Given the description of an element on the screen output the (x, y) to click on. 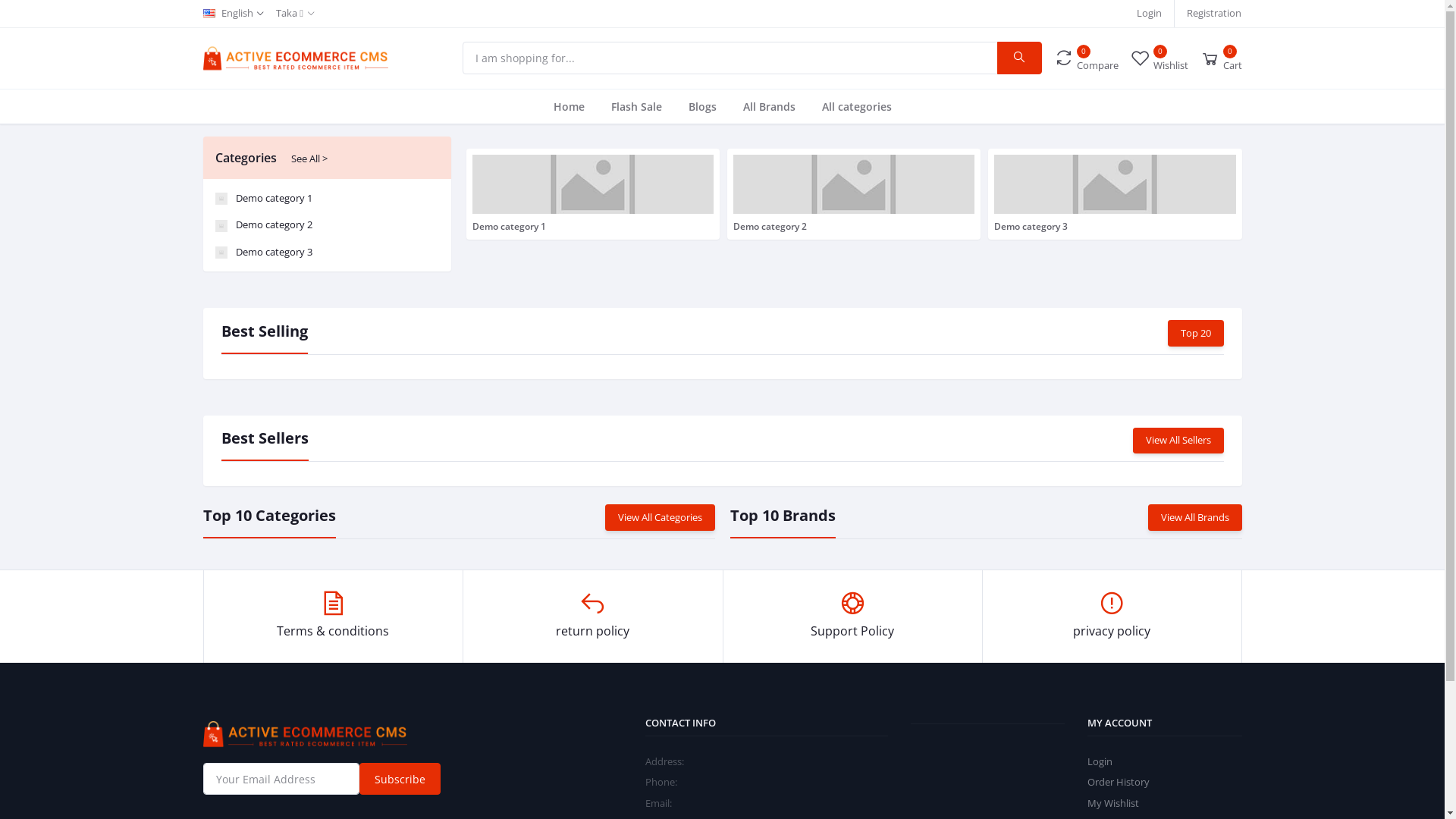
Registration Element type: text (1213, 13)
privacy policy Element type: text (1112, 616)
All Brands Element type: text (769, 106)
See All > Element type: text (309, 158)
Demo category 1 Element type: text (327, 198)
My Wishlist Element type: text (1113, 802)
Demo category 3 Element type: text (1114, 193)
Top 20 Element type: text (1195, 333)
0
Cart Element type: text (1220, 57)
Terms & conditions Element type: text (333, 616)
Demo category 1 Element type: text (592, 193)
Flash Sale Element type: text (636, 106)
Login Element type: text (1099, 761)
Demo category 2 Element type: text (327, 224)
All categories Element type: text (856, 106)
Support Policy Element type: text (851, 616)
Demo category 2 Element type: text (853, 193)
Home Element type: text (568, 106)
Subscribe Element type: text (399, 778)
Login Element type: text (1148, 13)
return policy Element type: text (592, 616)
View All Sellers Element type: text (1177, 440)
English Element type: text (233, 13)
Demo category 3 Element type: text (327, 251)
View All Brands Element type: text (1195, 517)
Order History Element type: text (1118, 781)
Blogs Element type: text (702, 106)
0
Compare Element type: text (1086, 57)
0
Wishlist Element type: text (1158, 57)
View All Categories Element type: text (660, 517)
